Given the description of an element on the screen output the (x, y) to click on. 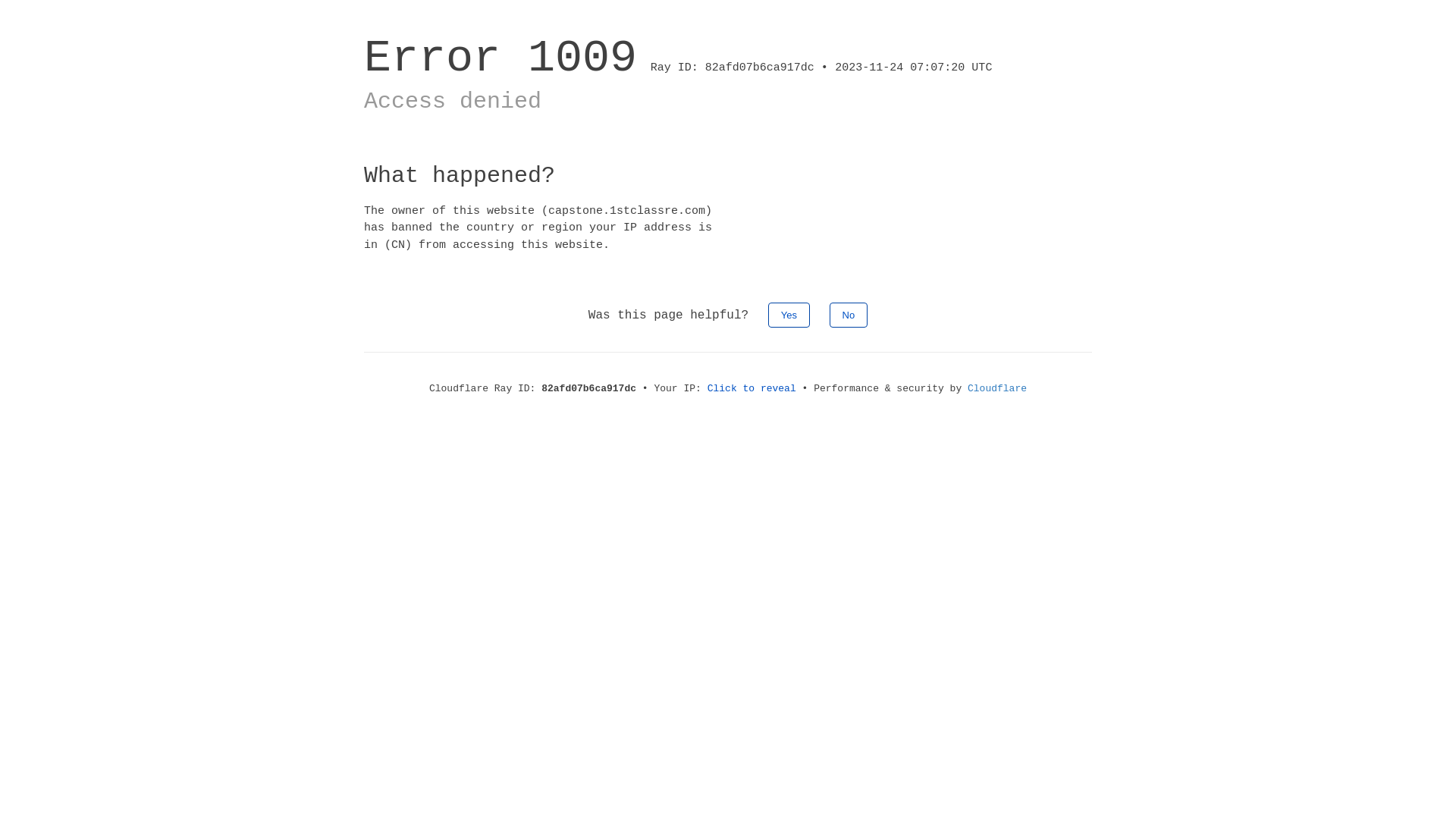
Yes Element type: text (788, 314)
No Element type: text (848, 314)
Click to reveal Element type: text (751, 388)
Cloudflare Element type: text (996, 388)
